Given the description of an element on the screen output the (x, y) to click on. 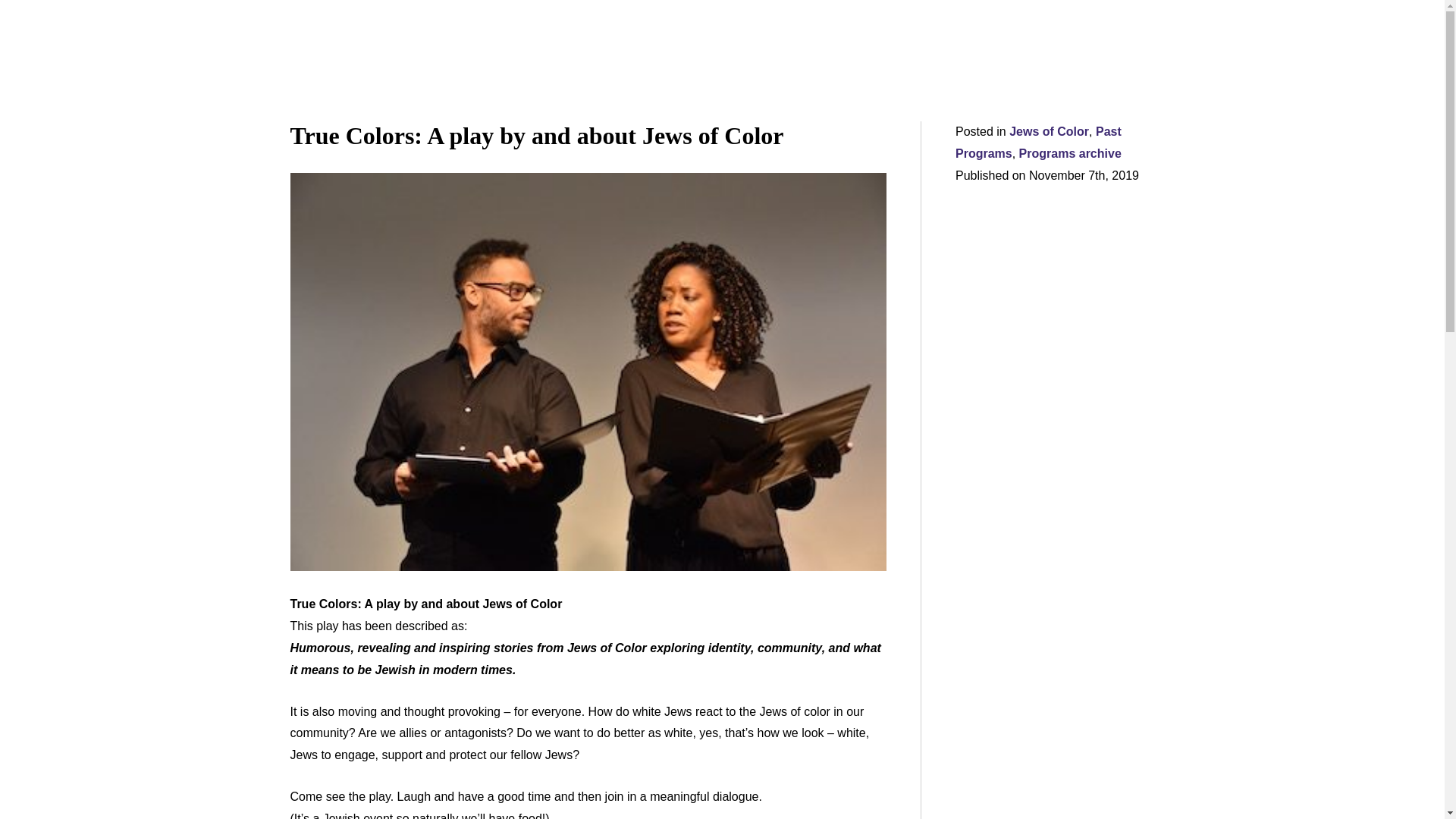
Jews of Color (1049, 131)
Search (19, 6)
Programs archive (1070, 153)
Past Programs (1038, 142)
